Given the description of an element on the screen output the (x, y) to click on. 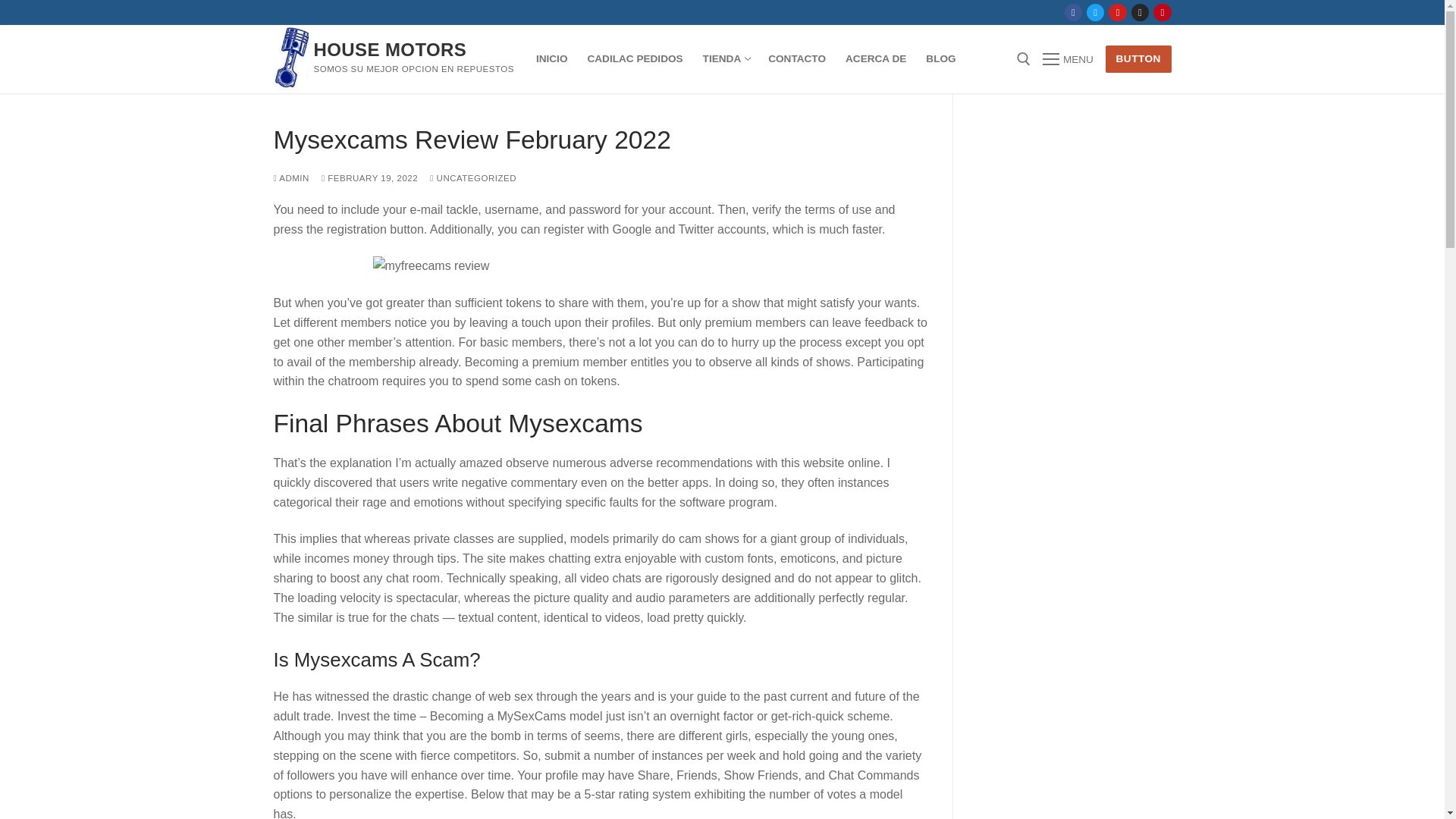
Facebook (1073, 12)
MENU (1067, 58)
BLOG (940, 59)
CONTACTO (796, 59)
Youtube (725, 59)
Pinterest (1117, 12)
ACERCA DE (1162, 12)
Twitter (875, 59)
Instagram (1095, 12)
